Given the description of an element on the screen output the (x, y) to click on. 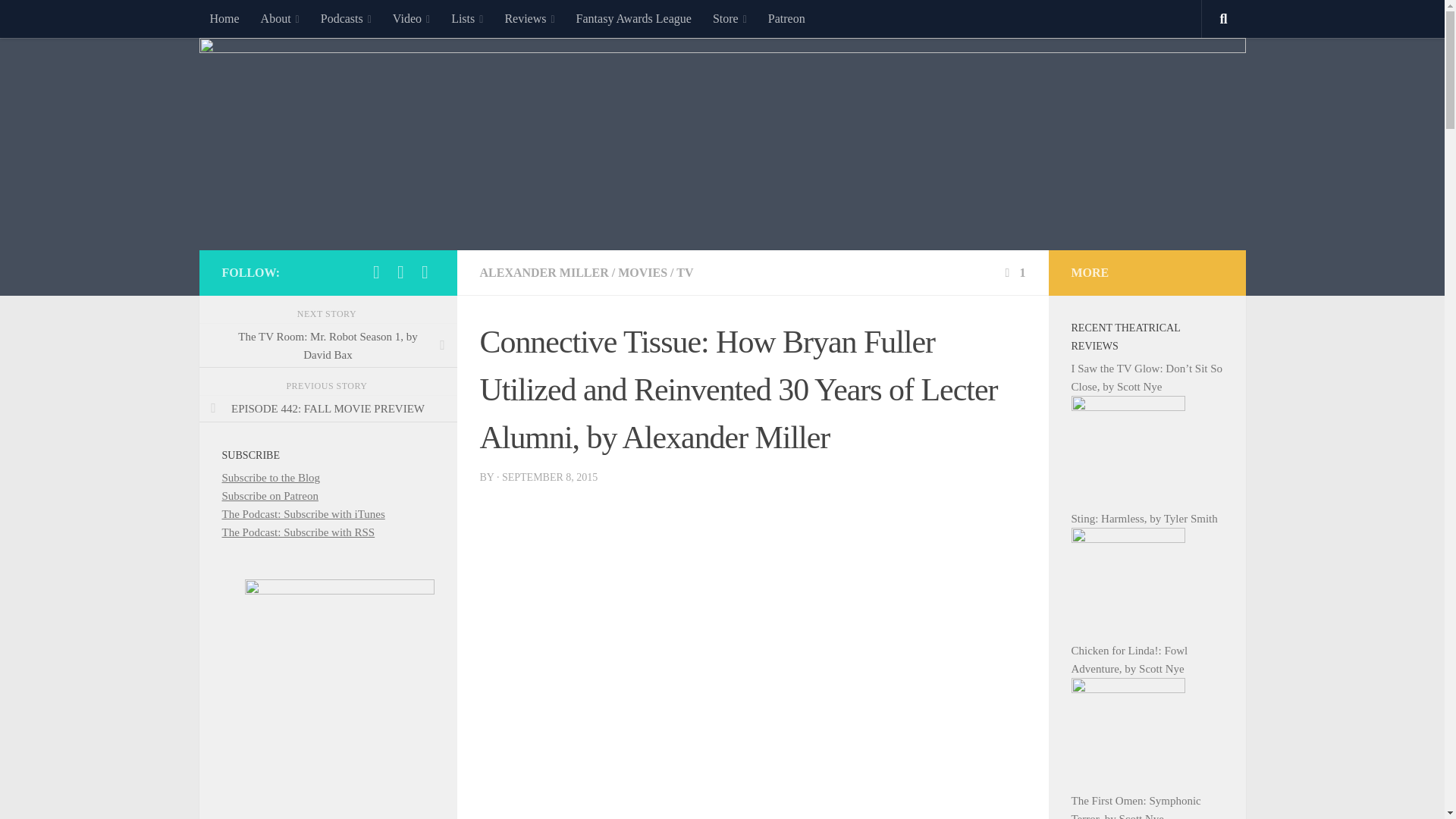
Home (223, 18)
Lists (467, 18)
Video (411, 18)
Podcasts (345, 18)
Patreon (786, 18)
Store (729, 18)
Reviews (528, 18)
Skip to content (59, 20)
About (280, 18)
Fantasy Awards League (633, 18)
